Given the description of an element on the screen output the (x, y) to click on. 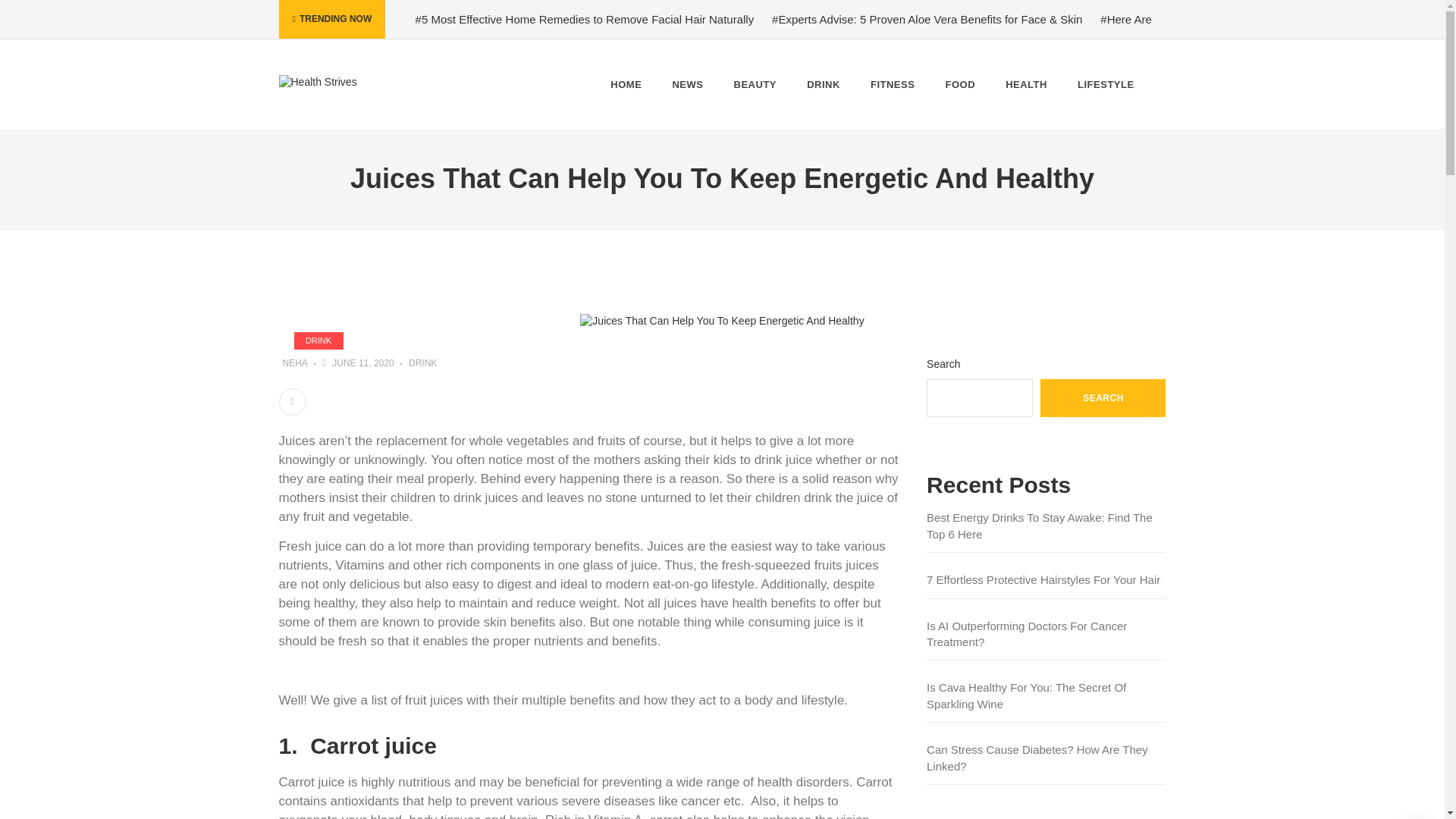
NEHA (294, 363)
7 Effortless Protective Hairstyles For Your Hair (1046, 579)
DRINK (422, 363)
Best Energy Drinks To Stay Awake: Find The Top 6 Here (1046, 530)
SEARCH (1103, 397)
LIFESTYLE (1106, 83)
DRINK (318, 340)
